Given the description of an element on the screen output the (x, y) to click on. 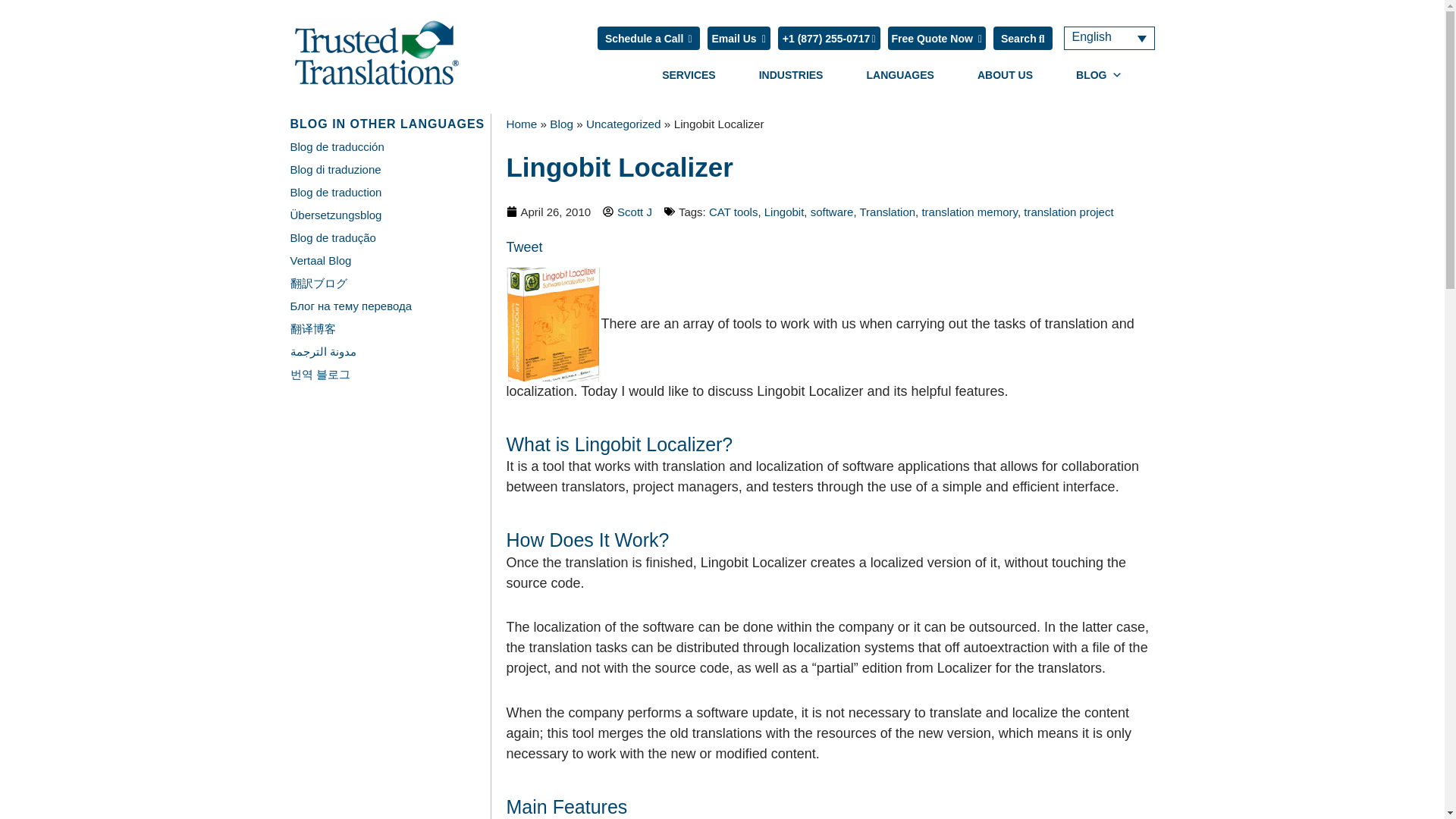
English (1108, 37)
INDUSTRIES (791, 74)
SERVICES (688, 74)
Search (1022, 37)
Blog de traduction (335, 192)
Blog (561, 123)
BLOG (1098, 74)
Blog di traduzione (334, 169)
Vertaal Blog (319, 259)
Free Quote Now (935, 37)
LANGUAGES (899, 74)
Home (521, 123)
Email Us (738, 37)
Uncategorized (623, 123)
ABOUT US (1005, 74)
